Given the description of an element on the screen output the (x, y) to click on. 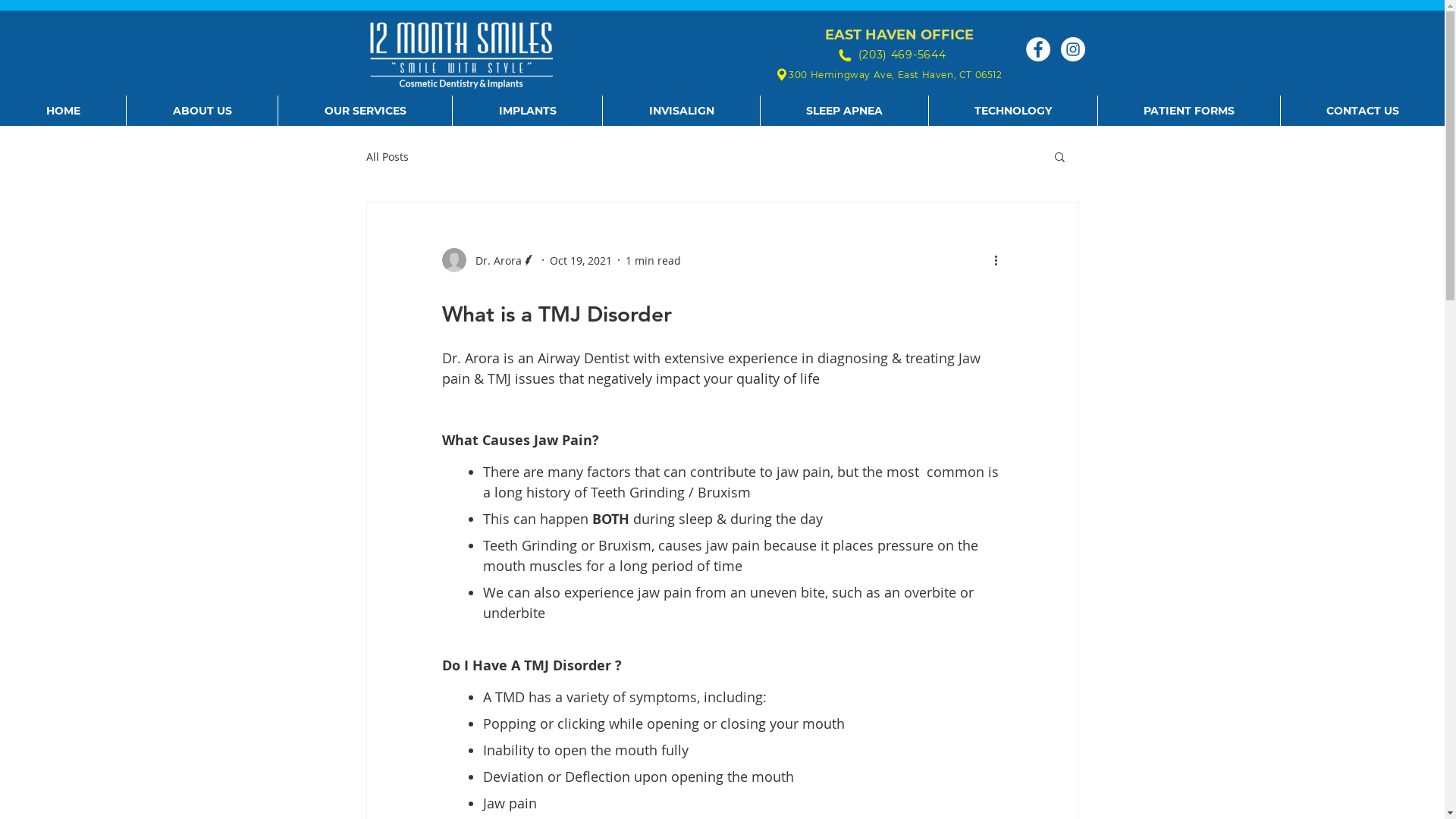
All Posts Element type: text (386, 155)
OUR SERVICES Element type: text (364, 110)
TECHNOLOGY Element type: text (1012, 110)
HOME Element type: text (62, 110)
CONTACT US Element type: text (1362, 110)
300 Hemingway Ave, East Haven, CT 06512 Element type: text (894, 74)
PATIENT FORMS Element type: text (1188, 110)
SLEEP APNEA Element type: text (843, 110)
IMPLANTS Element type: text (526, 110)
(203) 469-5644 Element type: text (902, 54)
INVISALIGN Element type: text (680, 110)
ABOUT US Element type: text (201, 110)
Dr. Arora Element type: text (488, 259)
